Given the description of an element on the screen output the (x, y) to click on. 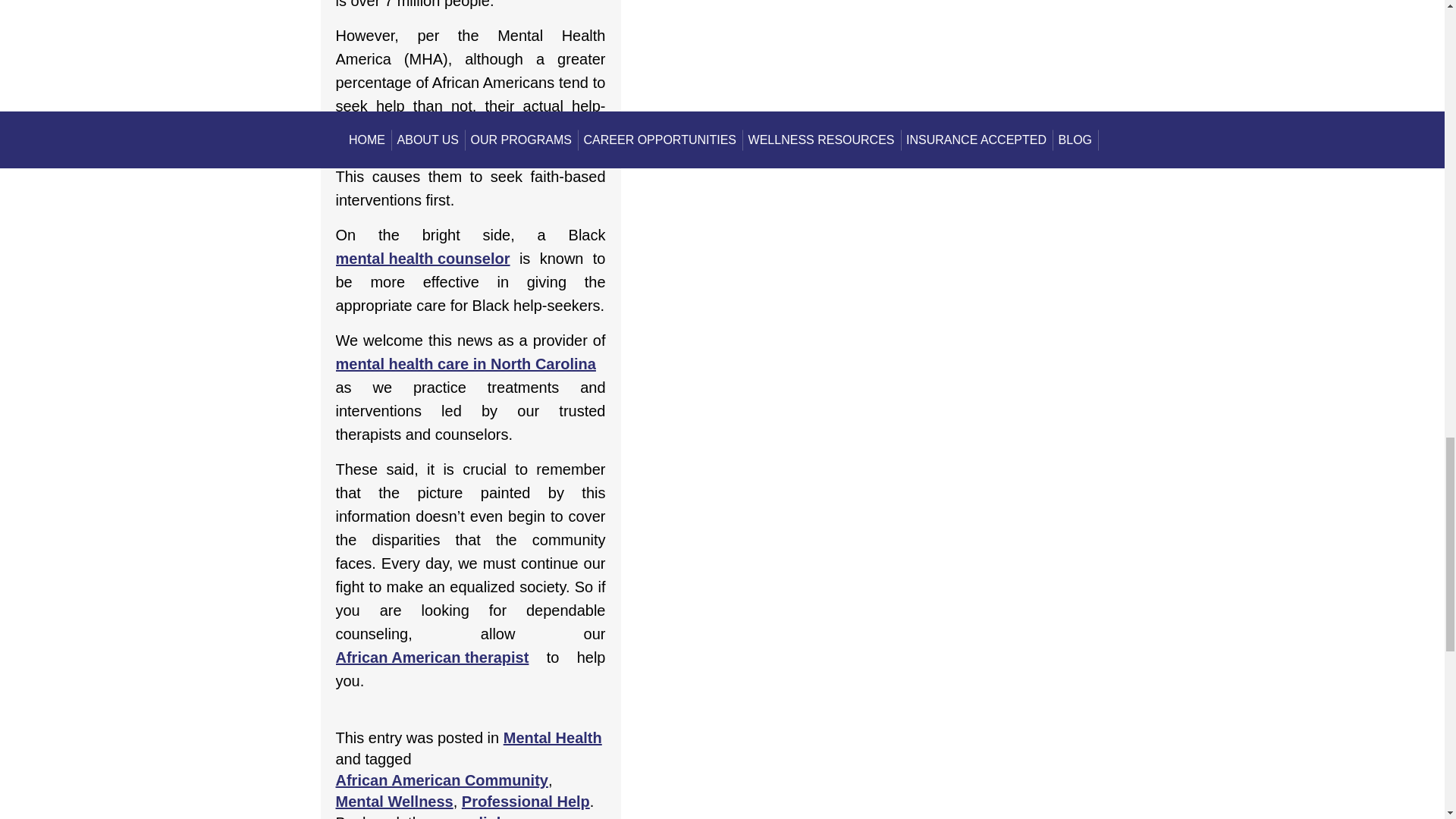
African American therapist (431, 657)
mental health care in North Carolina (464, 363)
Permalink to Mental Health in the African American Community (467, 815)
Professional Help (525, 801)
permalink (467, 815)
mental health counselor (421, 259)
Mental Wellness (393, 801)
African American Community (440, 780)
Mental Health (552, 737)
